Given the description of an element on the screen output the (x, y) to click on. 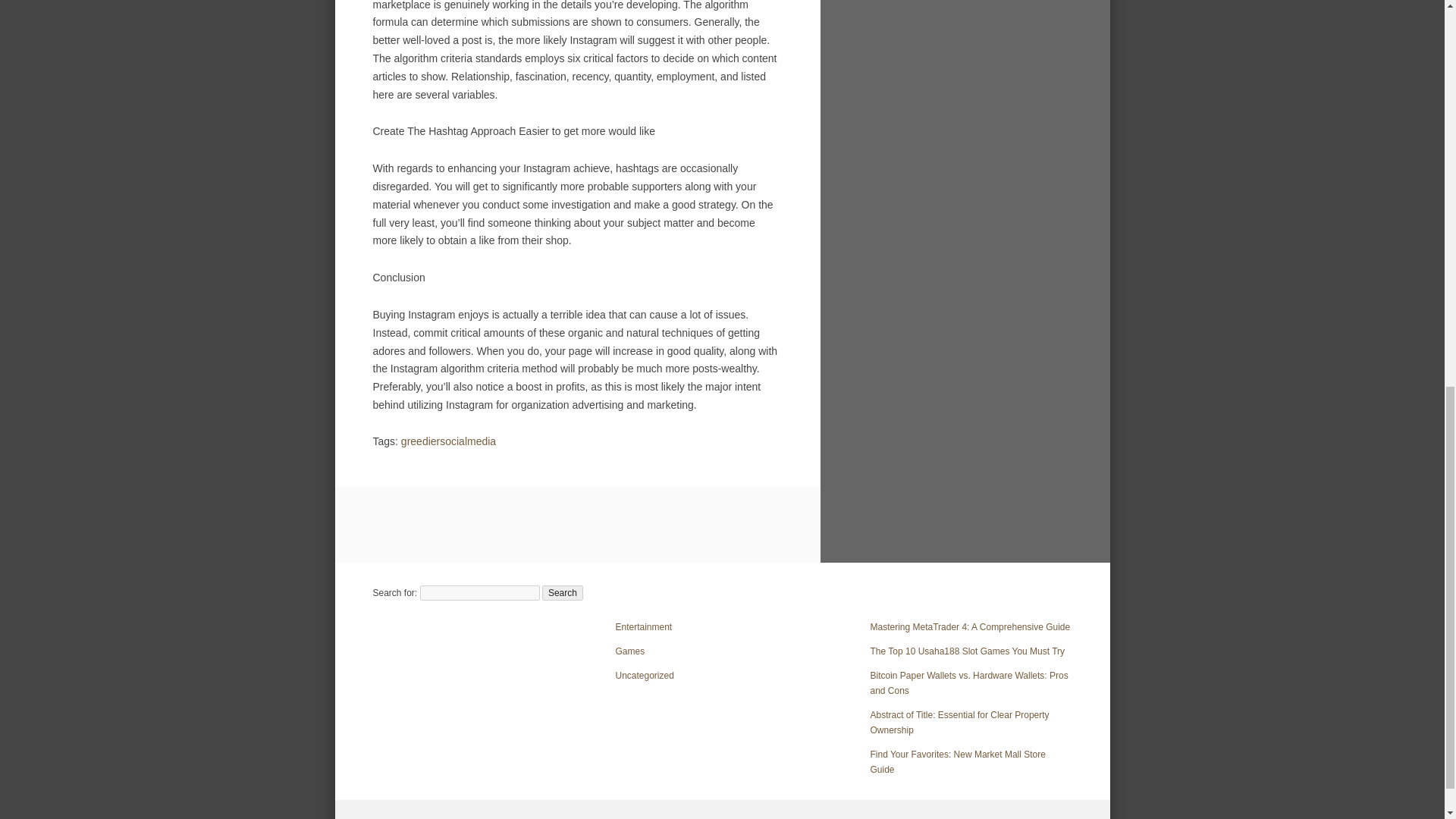
Search (562, 592)
Entertainment (643, 626)
Mastering MetaTrader 4: A Comprehensive Guide (970, 626)
Find Your Favorites: New Market Mall Store Guide (957, 761)
Bitcoin Paper Wallets vs. Hardware Wallets: Pros and Cons (969, 683)
Search (562, 592)
Games (630, 651)
Abstract of Title: Essential for Clear Property Ownership (959, 722)
The Top 10 Usaha188 Slot Games You Must Try (967, 651)
greediersocialmedia (448, 440)
Uncategorized (644, 675)
